Given the description of an element on the screen output the (x, y) to click on. 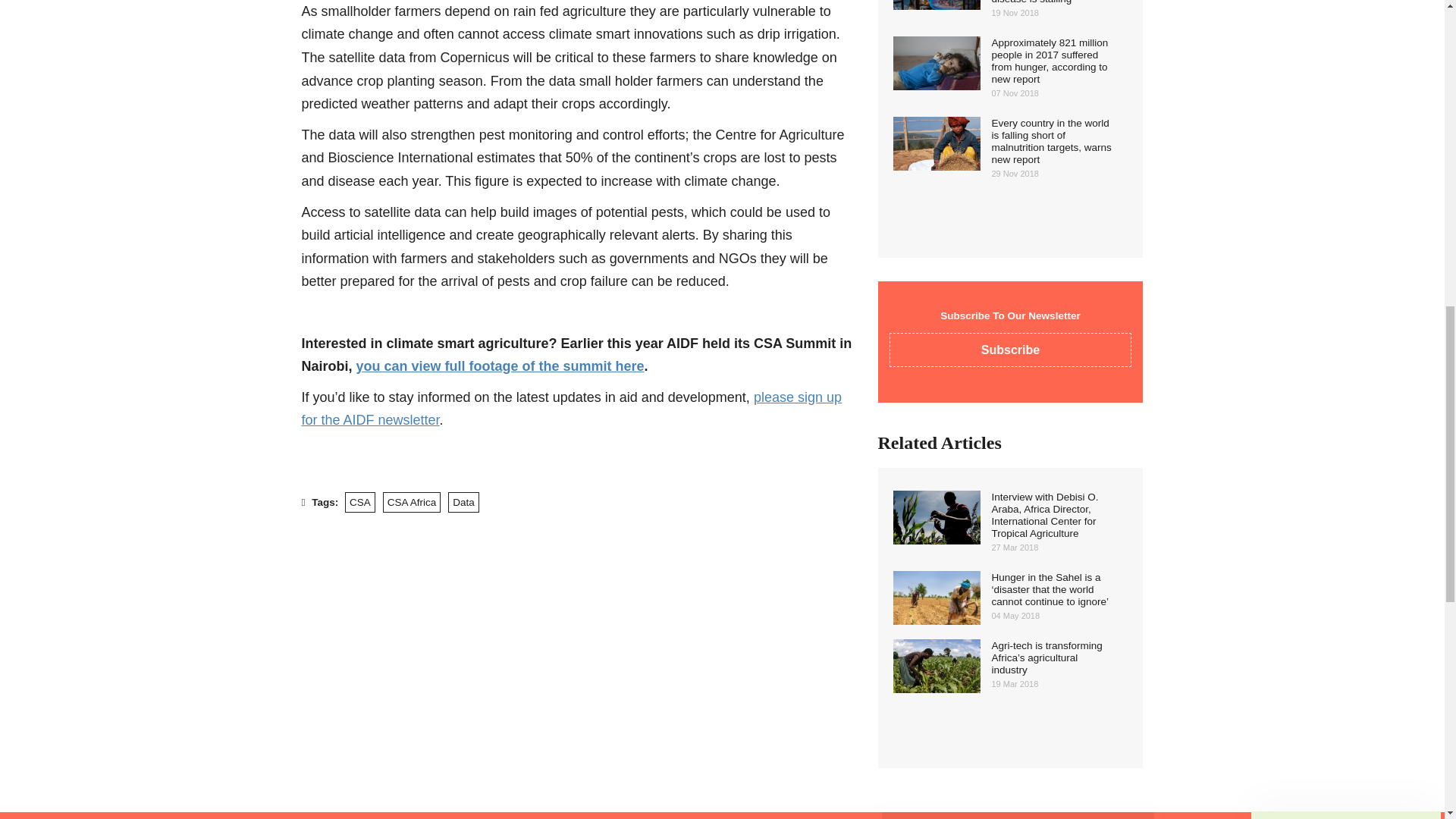
CSA Africa (411, 502)
Data (463, 502)
CSA (360, 502)
